Given the description of an element on the screen output the (x, y) to click on. 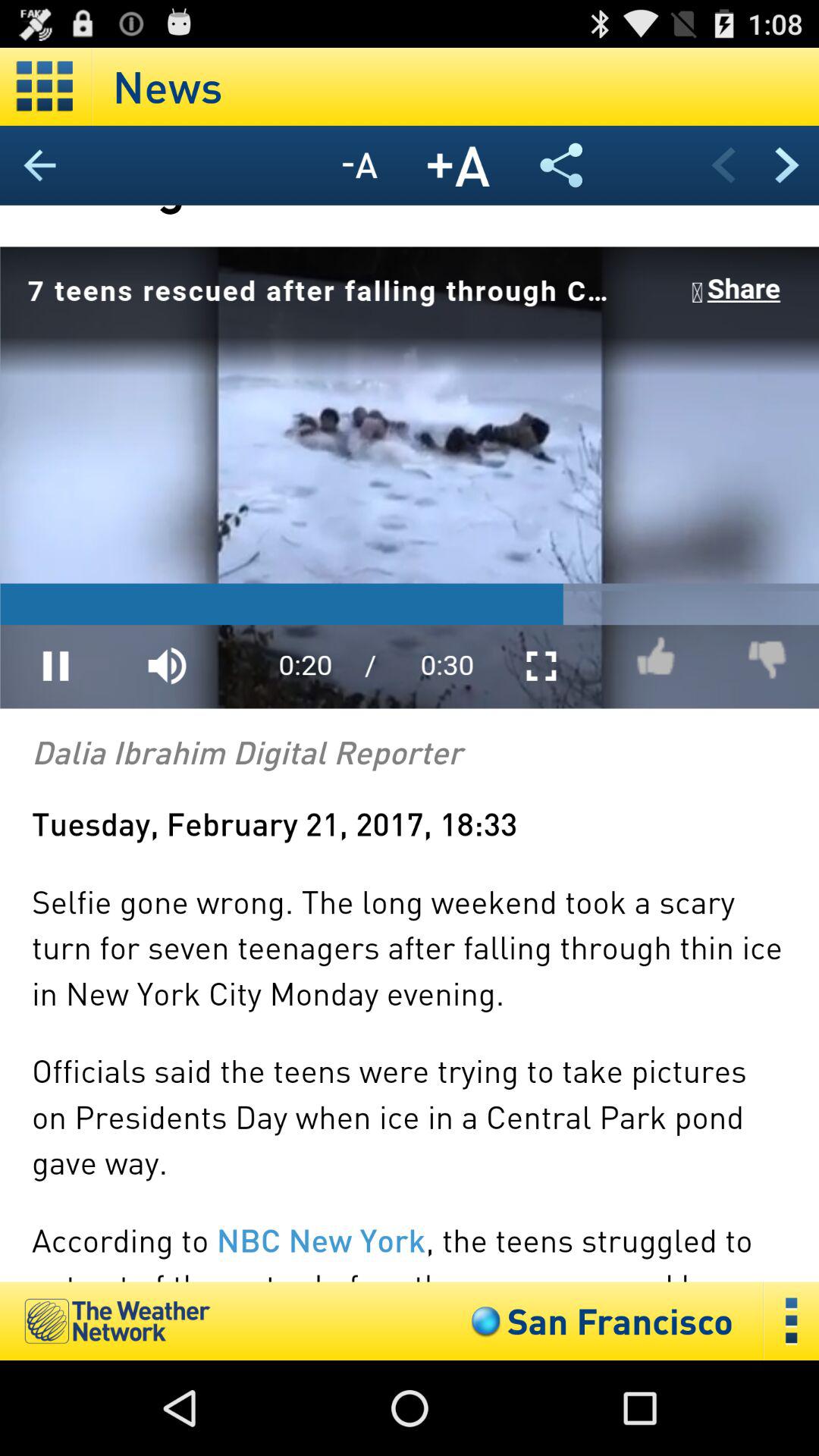
got to previous page (723, 165)
